Given the description of an element on the screen output the (x, y) to click on. 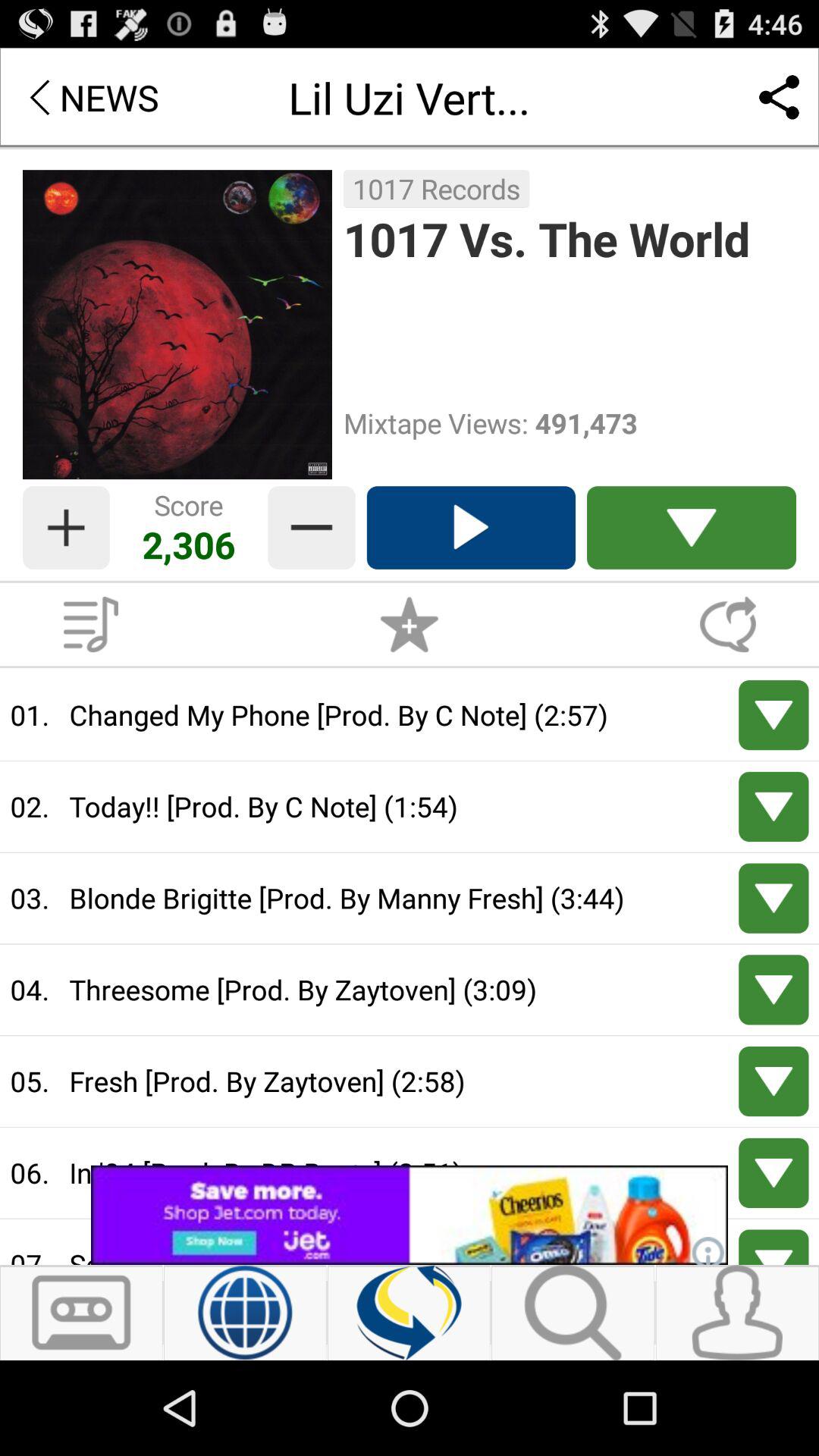
show more (773, 898)
